Given the description of an element on the screen output the (x, y) to click on. 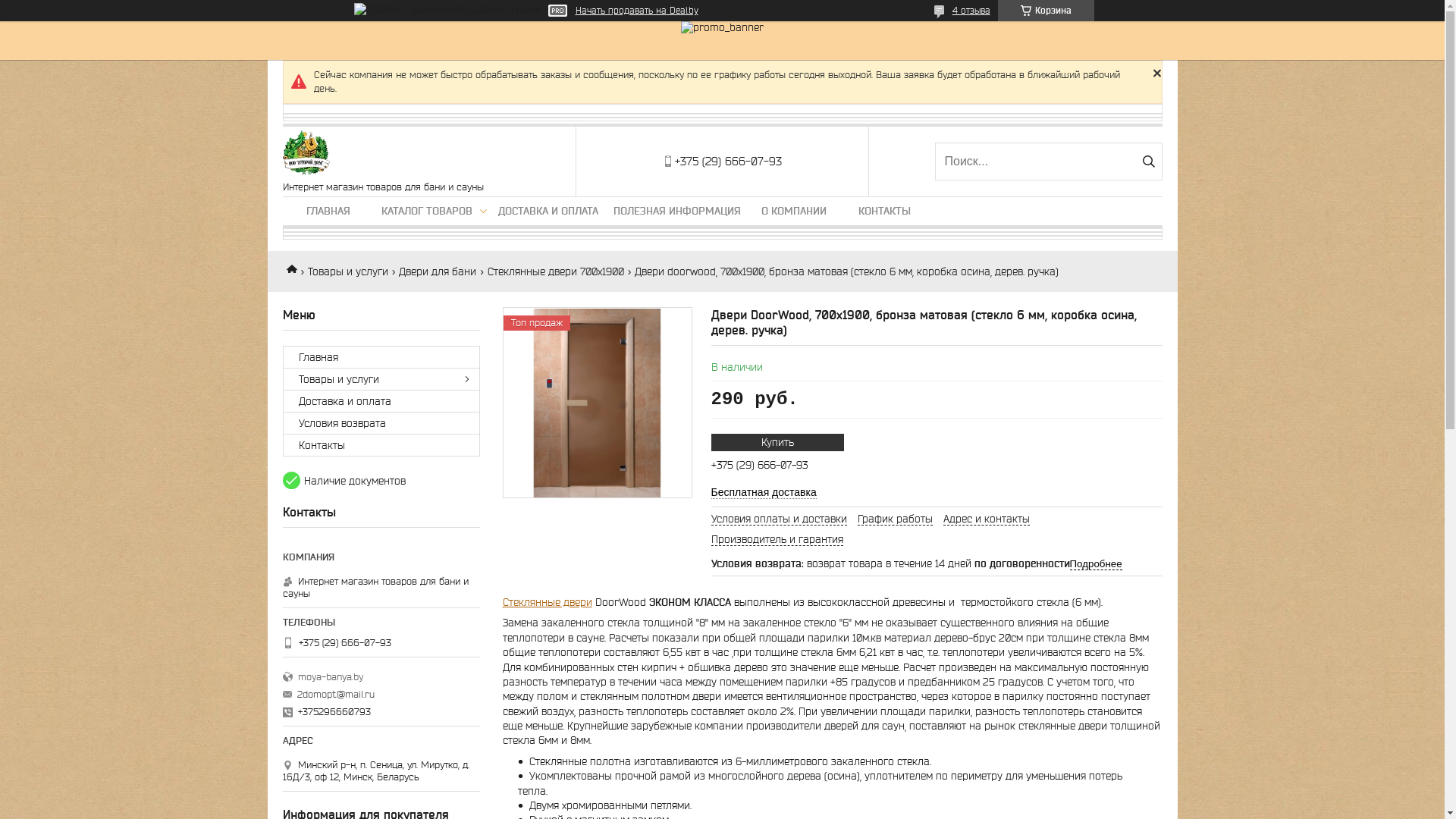
2domopt@mail.ru Element type: text (335, 694)
moya-banya.by Element type: text (372, 677)
